Given the description of an element on the screen output the (x, y) to click on. 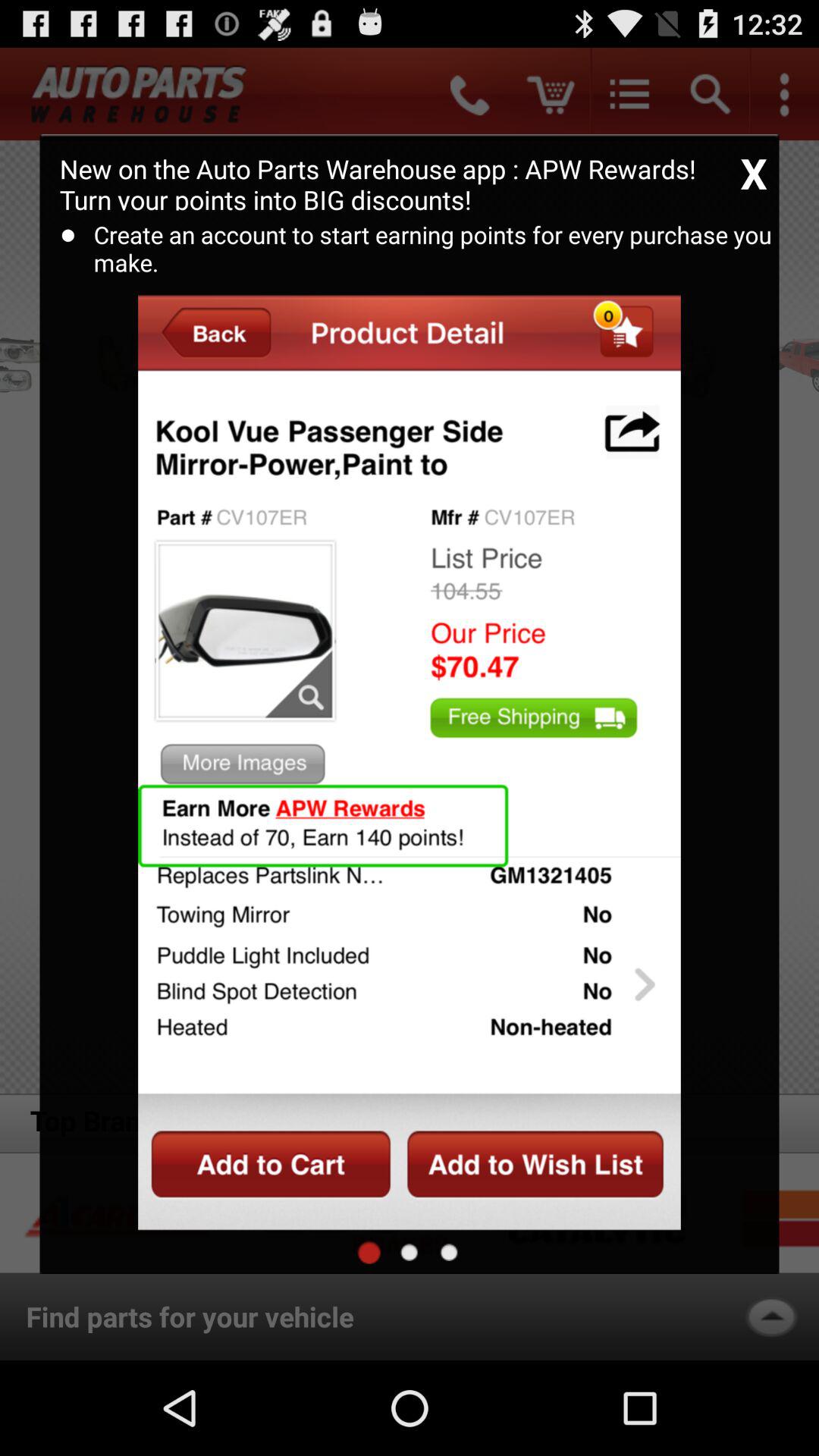
fllu (409, 1251)
